Given the description of an element on the screen output the (x, y) to click on. 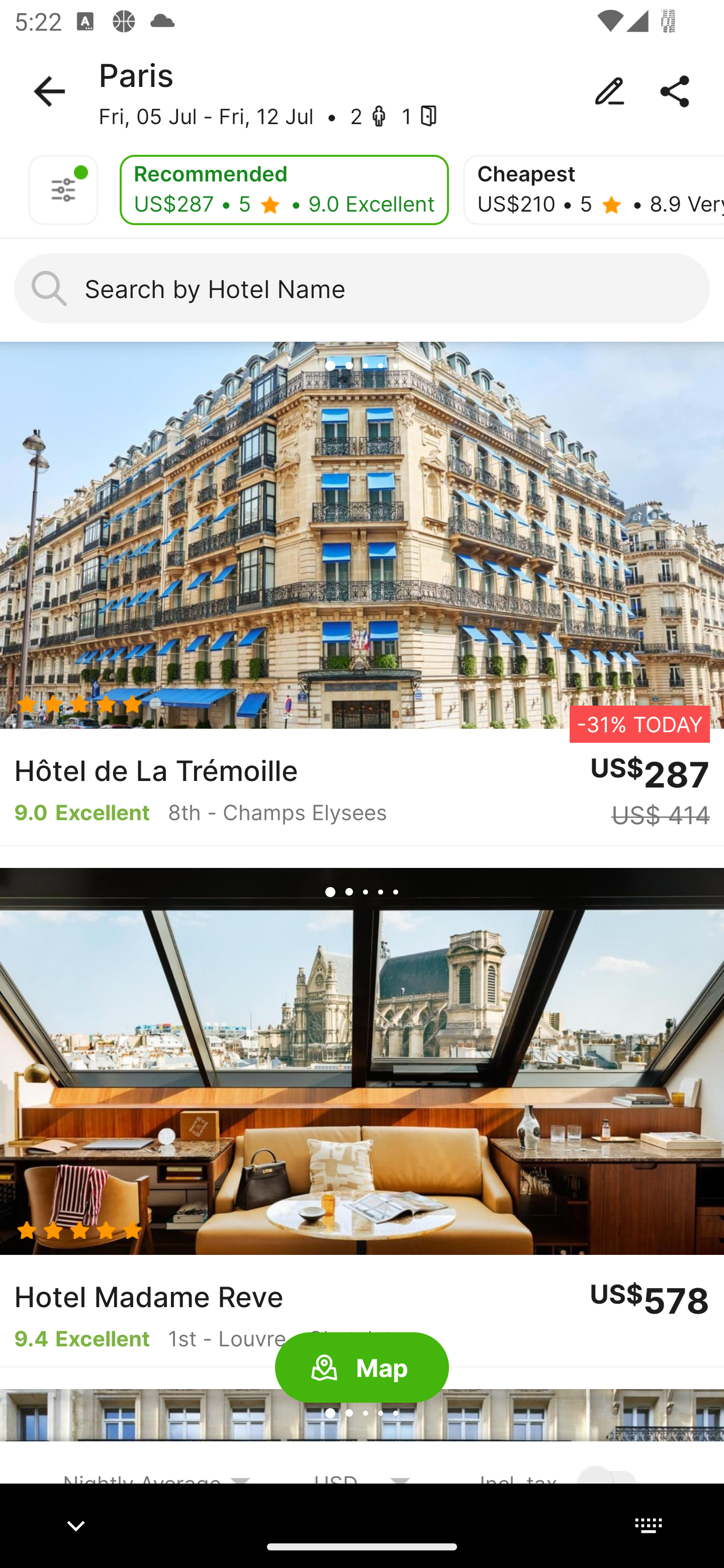
Paris Fri, 05 Jul - Fri, 12 Jul  •  2 -  1 - (361, 91)
Recommended  US$287  • 5 - • 9.0 Excellent (283, 190)
Cheapest US$210  • 5 - • 8.9 Very Good (593, 190)
Search by Hotel Name  (361, 288)
Map  (361, 1367)
